Given the description of an element on the screen output the (x, y) to click on. 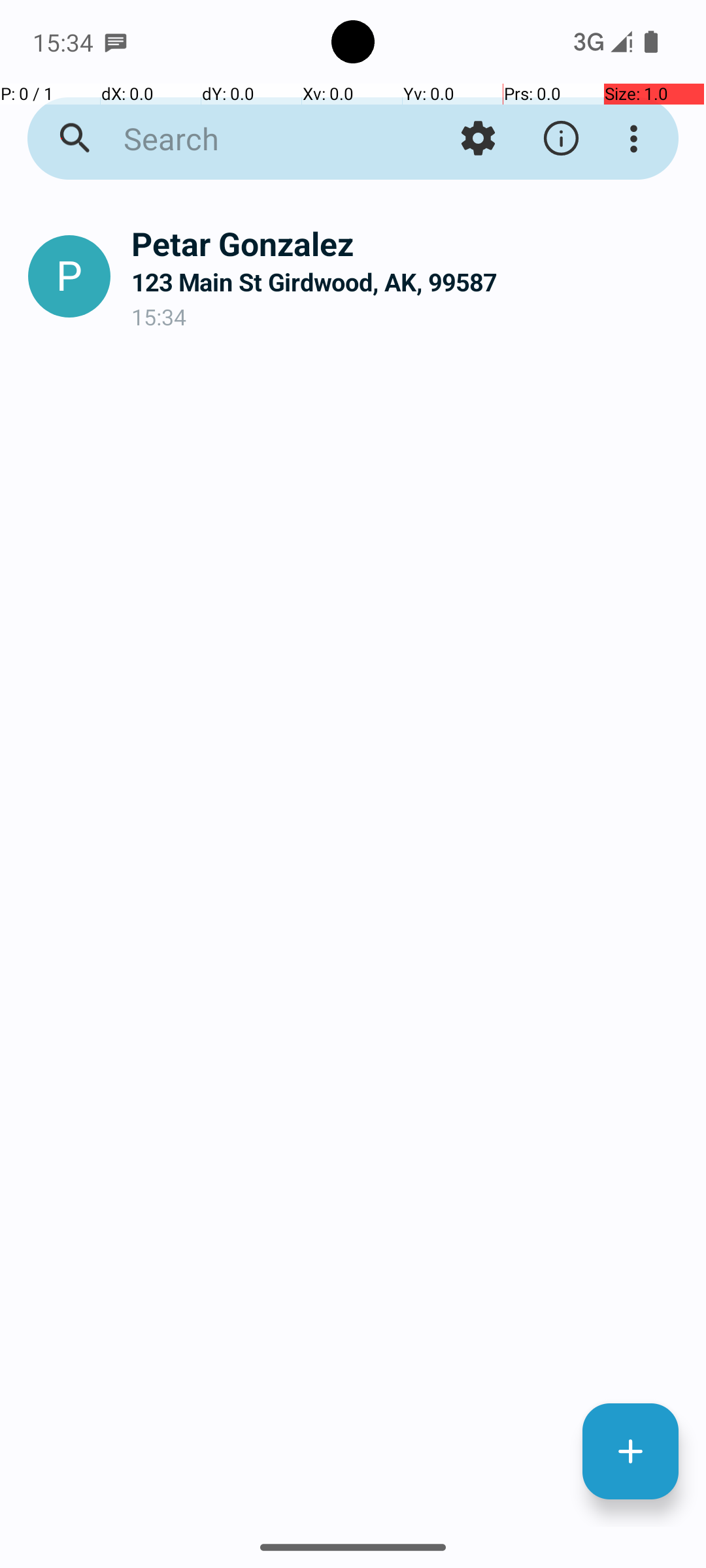
Petar Gonzalez Element type: android.widget.TextView (408, 242)
123 Main St Girdwood, AK, 99587 Element type: android.widget.TextView (408, 281)
